Given the description of an element on the screen output the (x, y) to click on. 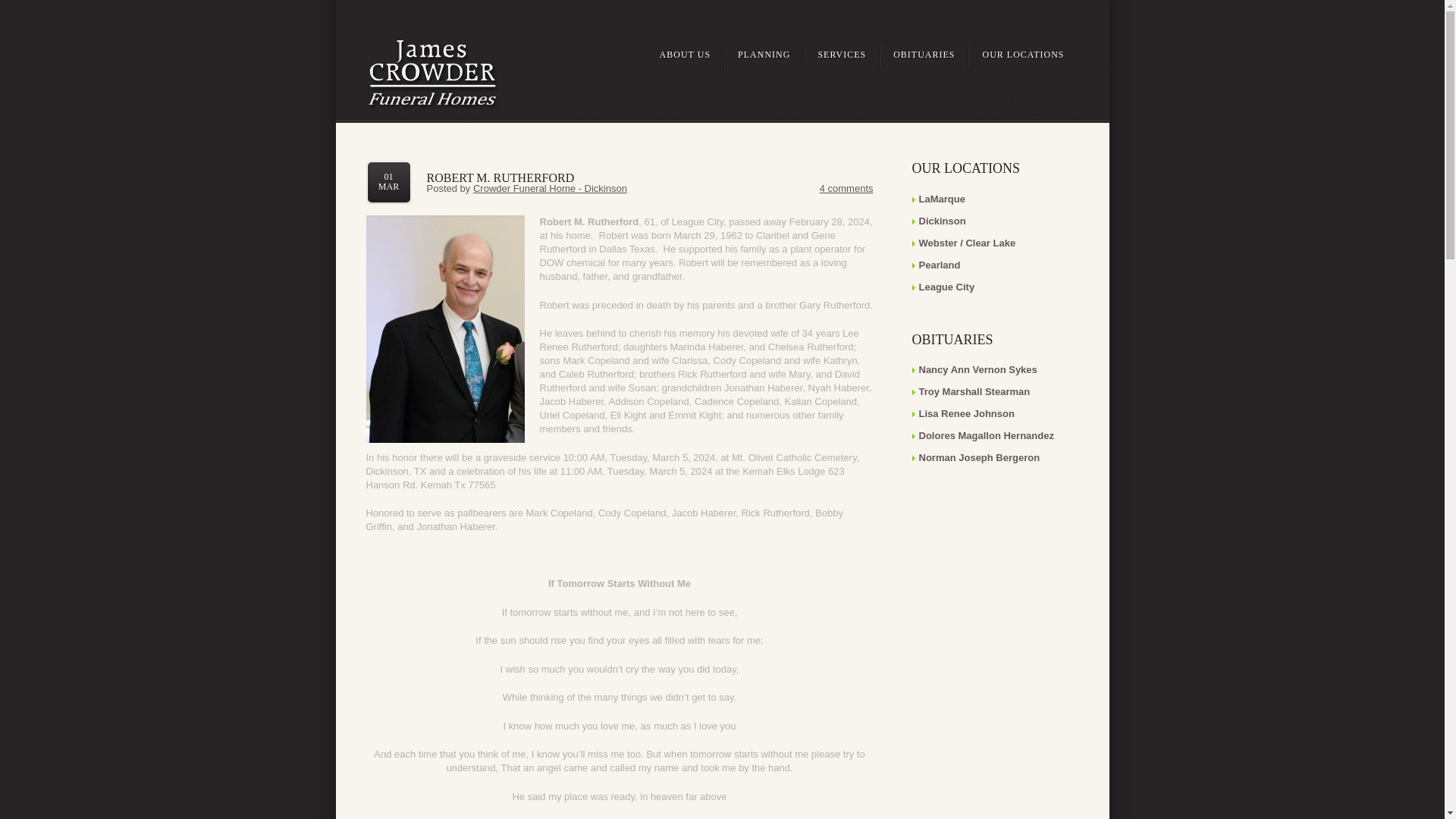
Troy Marshall Stearman (974, 391)
Norman Joseph Bergeron (979, 457)
Posts by Crowder Funeral Home - Dickinson (550, 188)
League City (946, 286)
Pearland (939, 265)
LaMarque (941, 198)
4 comments (846, 188)
Crowder Funeral Home - Dickinson (550, 188)
SERVICES (841, 54)
OBITUARIES (924, 54)
